Given the description of an element on the screen output the (x, y) to click on. 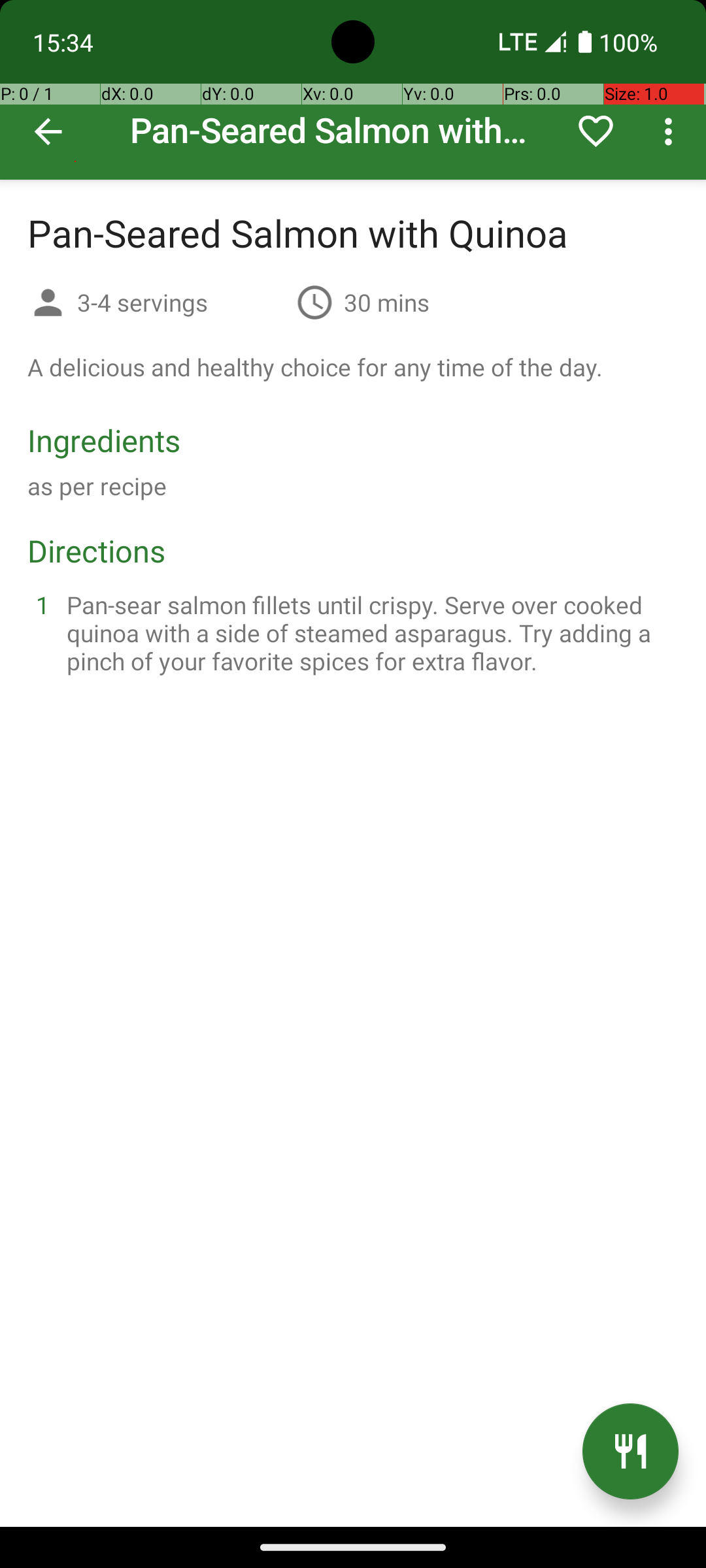
Pan-sear salmon fillets until crispy. Serve over cooked quinoa with a side of steamed asparagus. Try adding a pinch of your favorite spices for extra flavor. Element type: android.widget.TextView (368, 632)
